Given the description of an element on the screen output the (x, y) to click on. 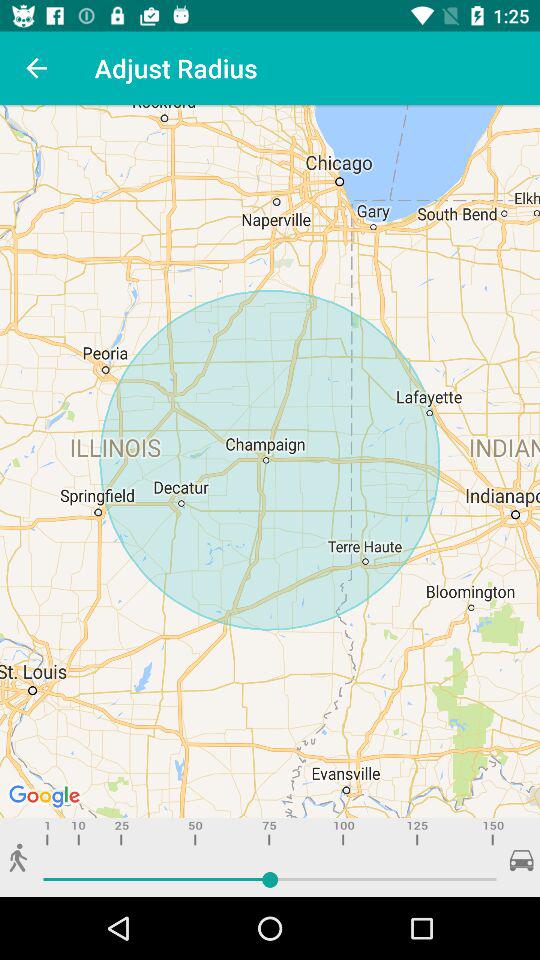
click icon next to adjust radius item (36, 68)
